Given the description of an element on the screen output the (x, y) to click on. 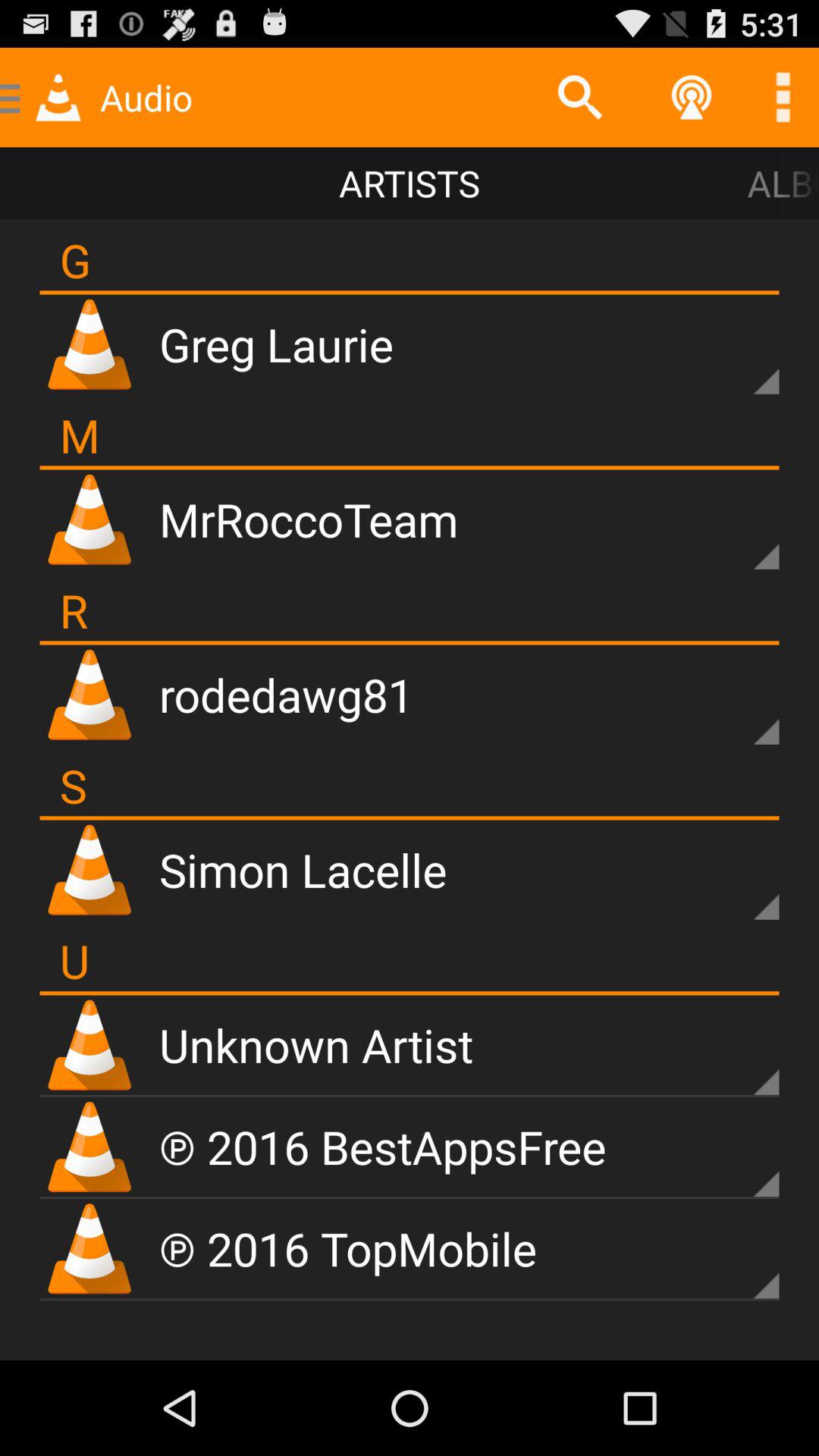
expands area selected (740, 1157)
